Given the description of an element on the screen output the (x, y) to click on. 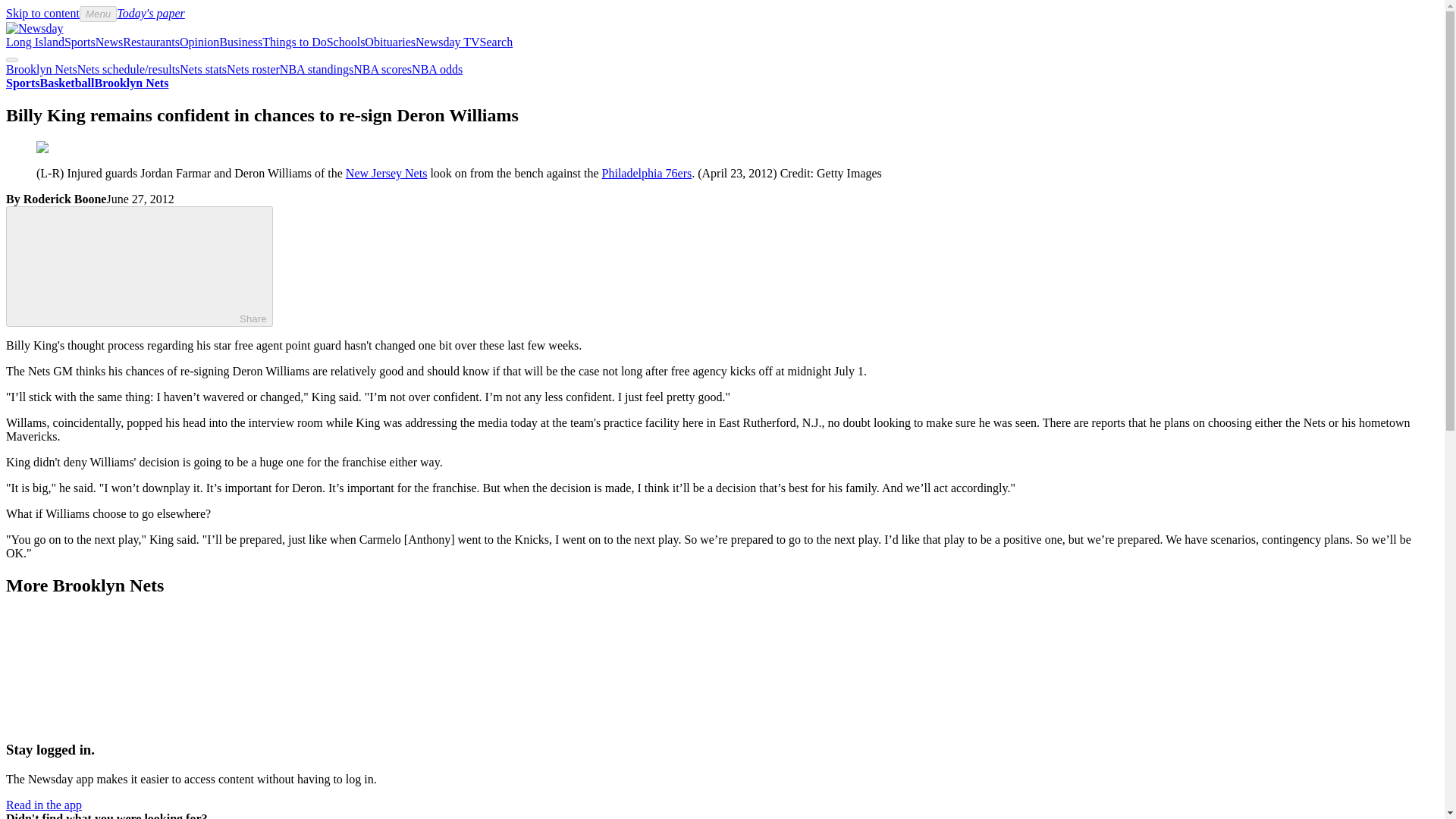
Sports (80, 42)
Nets roster (253, 69)
NBA odds (437, 69)
Nets stats (203, 69)
Read in the app (43, 804)
Brooklyn Nets (131, 82)
News (109, 42)
Restaurants (150, 42)
New Jersey Nets (387, 173)
Today's paper (150, 12)
Newsday TV (447, 42)
Long Island (34, 42)
Schools (345, 42)
Skip to content (42, 12)
Opinion (199, 42)
